Given the description of an element on the screen output the (x, y) to click on. 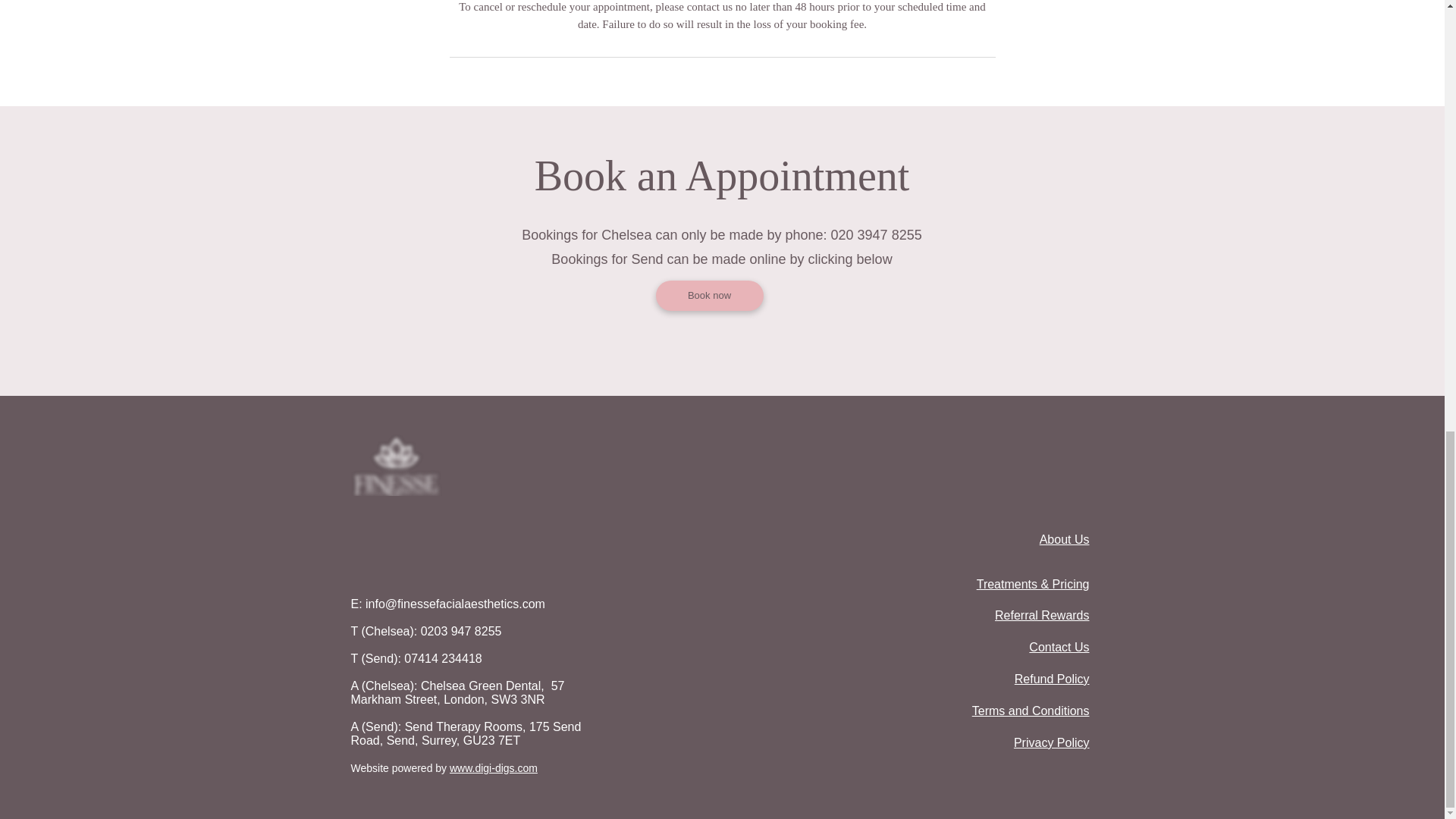
Privacy Policy (1051, 742)
About Us (1064, 539)
www.digi-digs.com (493, 767)
Referral Rewards (1041, 615)
Refund Policy (1051, 678)
Contact Us (1059, 646)
Book now (708, 295)
Terms and Conditions (1030, 710)
